Given the description of an element on the screen output the (x, y) to click on. 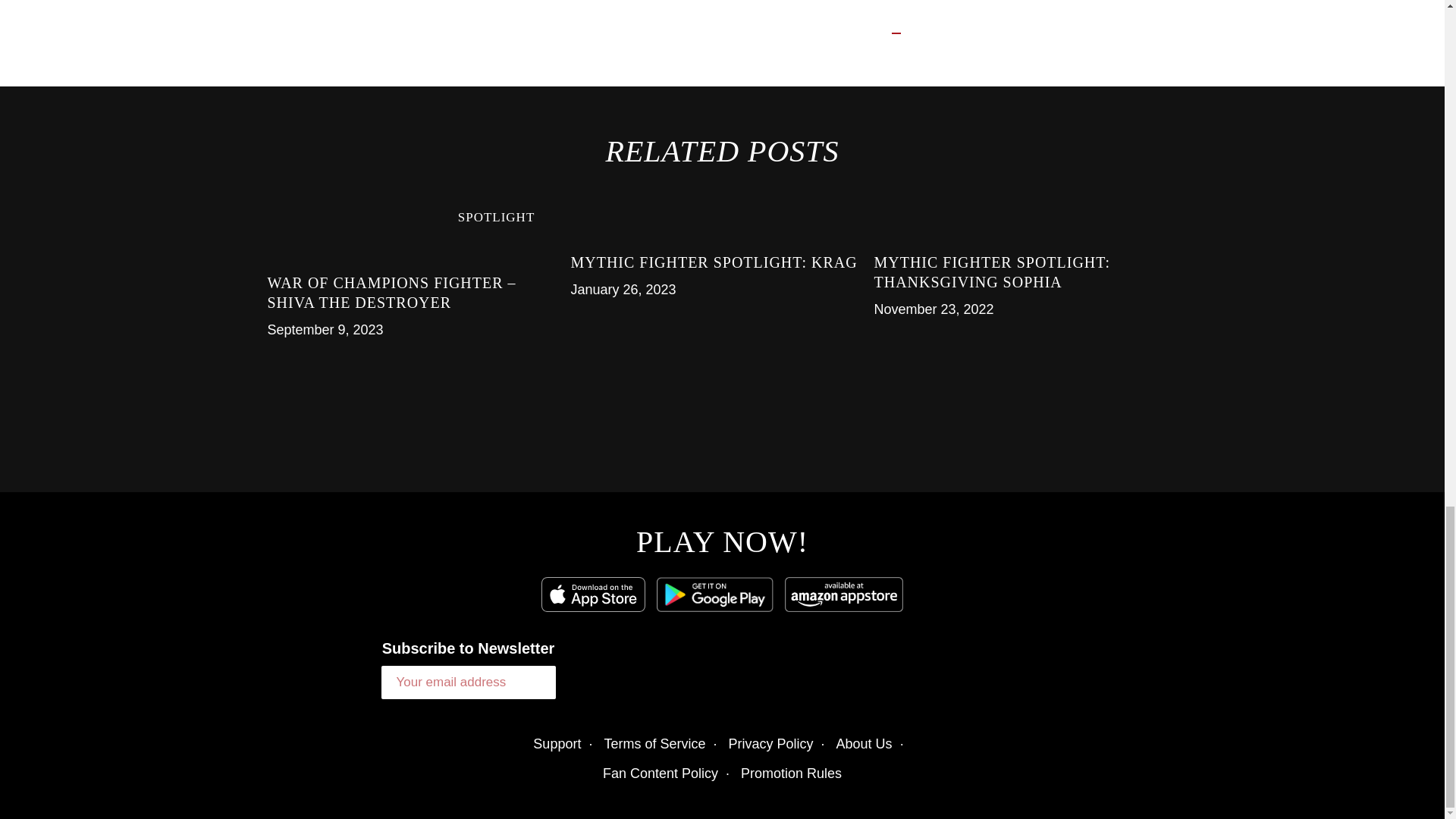
MYTHIC FIGHTER SPOTLIGHT: KRAG (713, 262)
MYTHIC FIGHTER SPOTLIGHT: THANKSGIVING SOPHIA (991, 271)
PREVIOUS POST (817, 32)
NEXT POST (957, 32)
Link to Facebook (843, 681)
SPOTLIGHT (496, 216)
